Given the description of an element on the screen output the (x, y) to click on. 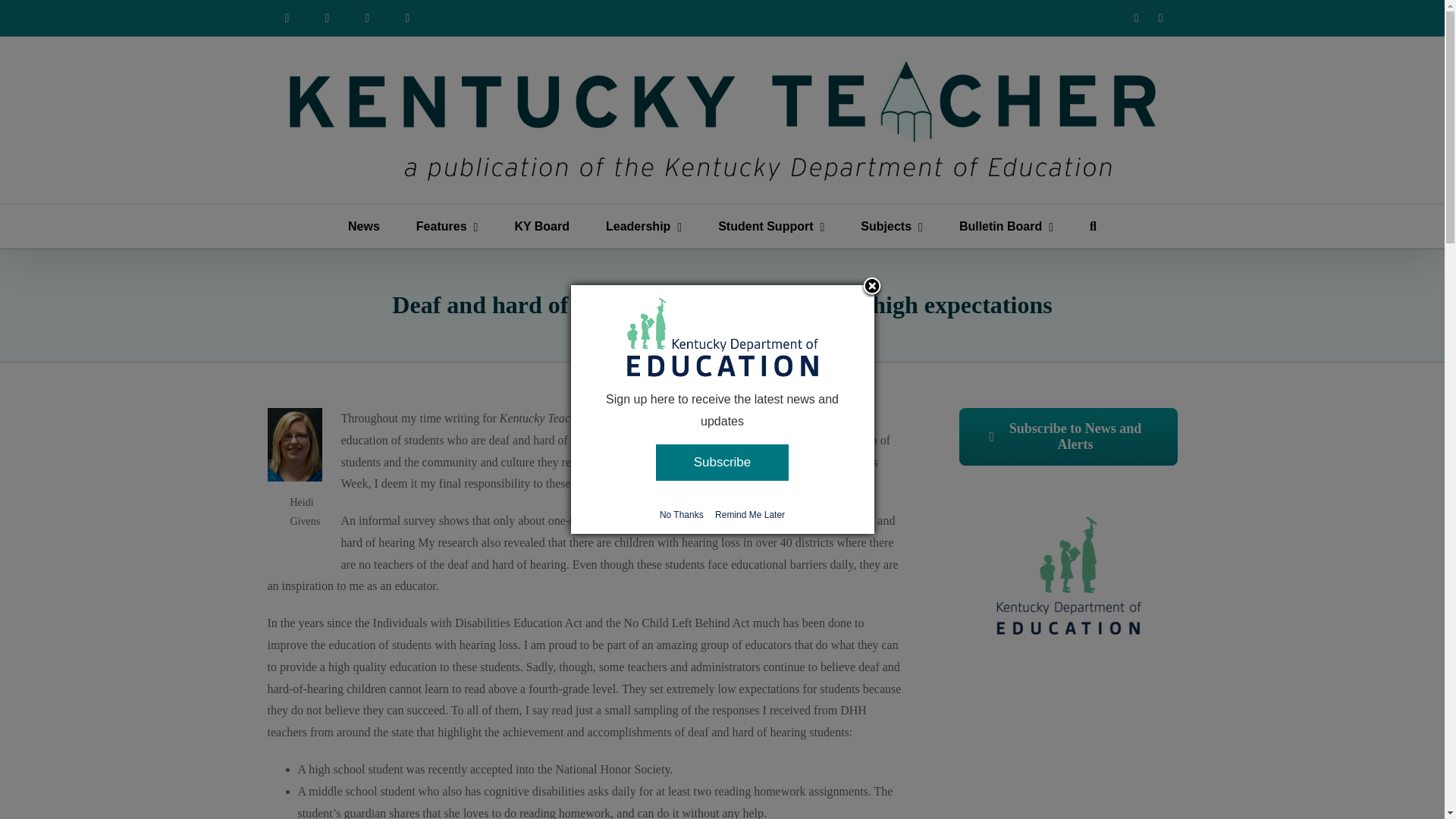
Bulletin Board (1005, 225)
Contact (408, 18)
Subjects (891, 225)
KY Board (541, 225)
Student Support (770, 225)
Leadership (643, 225)
Staff (367, 18)
Features (447, 225)
Home (285, 18)
About (327, 18)
